Given the description of an element on the screen output the (x, y) to click on. 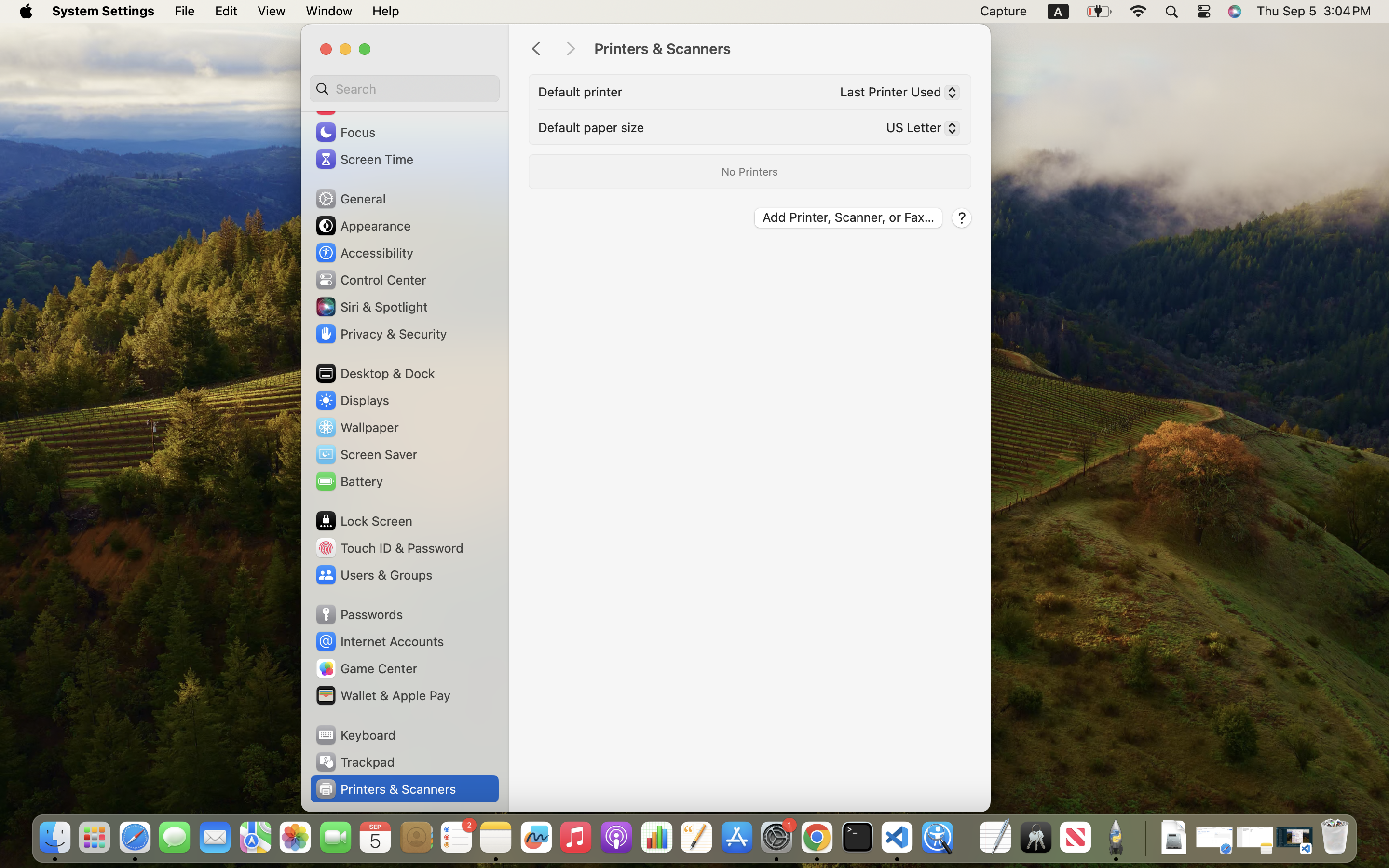
Lock Screen Element type: AXStaticText (363, 520)
Wallet & Apple Pay Element type: AXStaticText (382, 694)
Focus Element type: AXStaticText (344, 131)
Keyboard Element type: AXStaticText (354, 734)
Last Printer Used Element type: AXPopUpButton (895, 93)
